Given the description of an element on the screen output the (x, y) to click on. 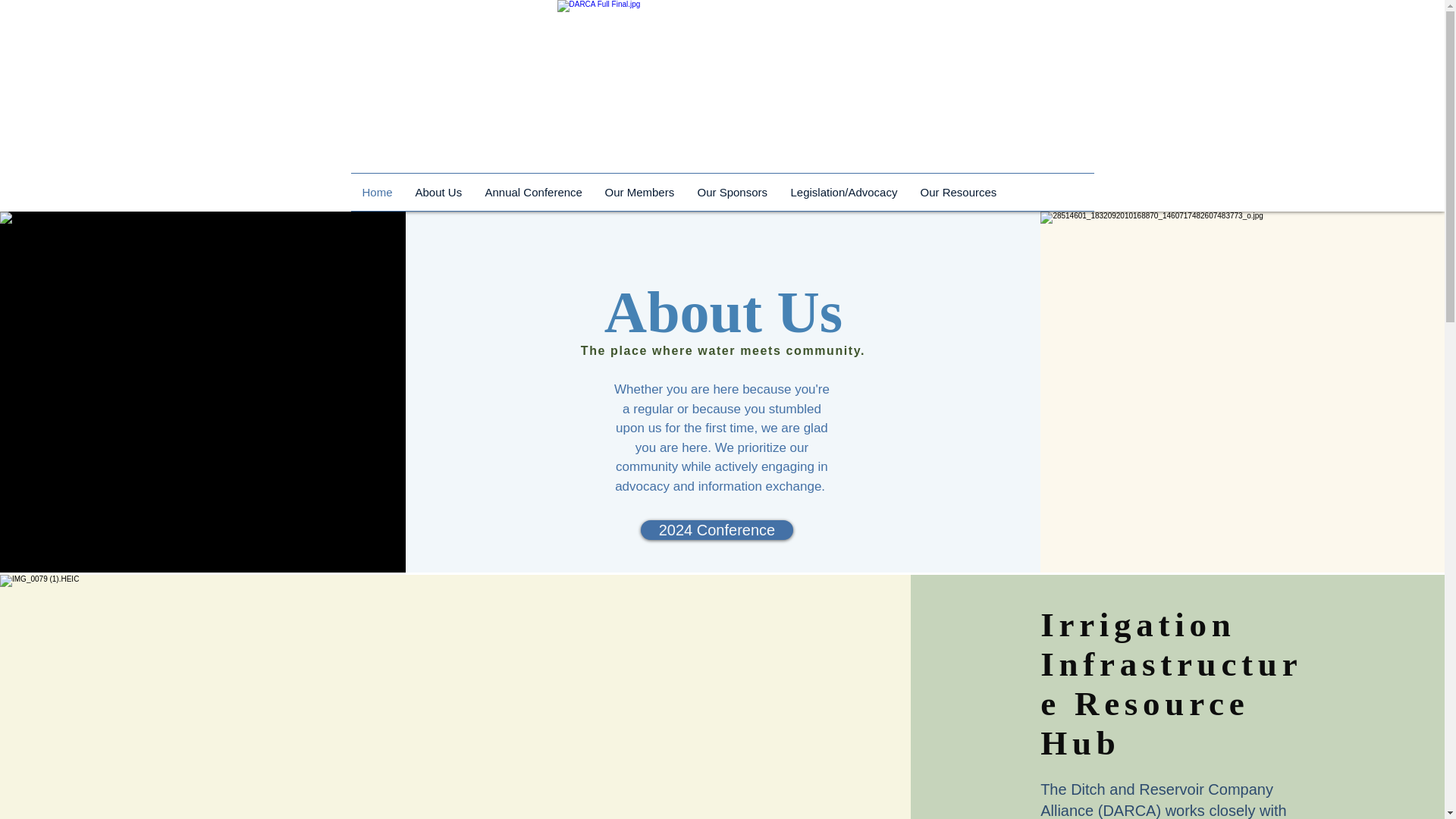
Our Sponsors (731, 191)
Home (376, 191)
Our Members (638, 191)
2024 Conference (716, 529)
Our Resources (957, 191)
Annual Conference (532, 191)
About Us (438, 191)
